Given the description of an element on the screen output the (x, y) to click on. 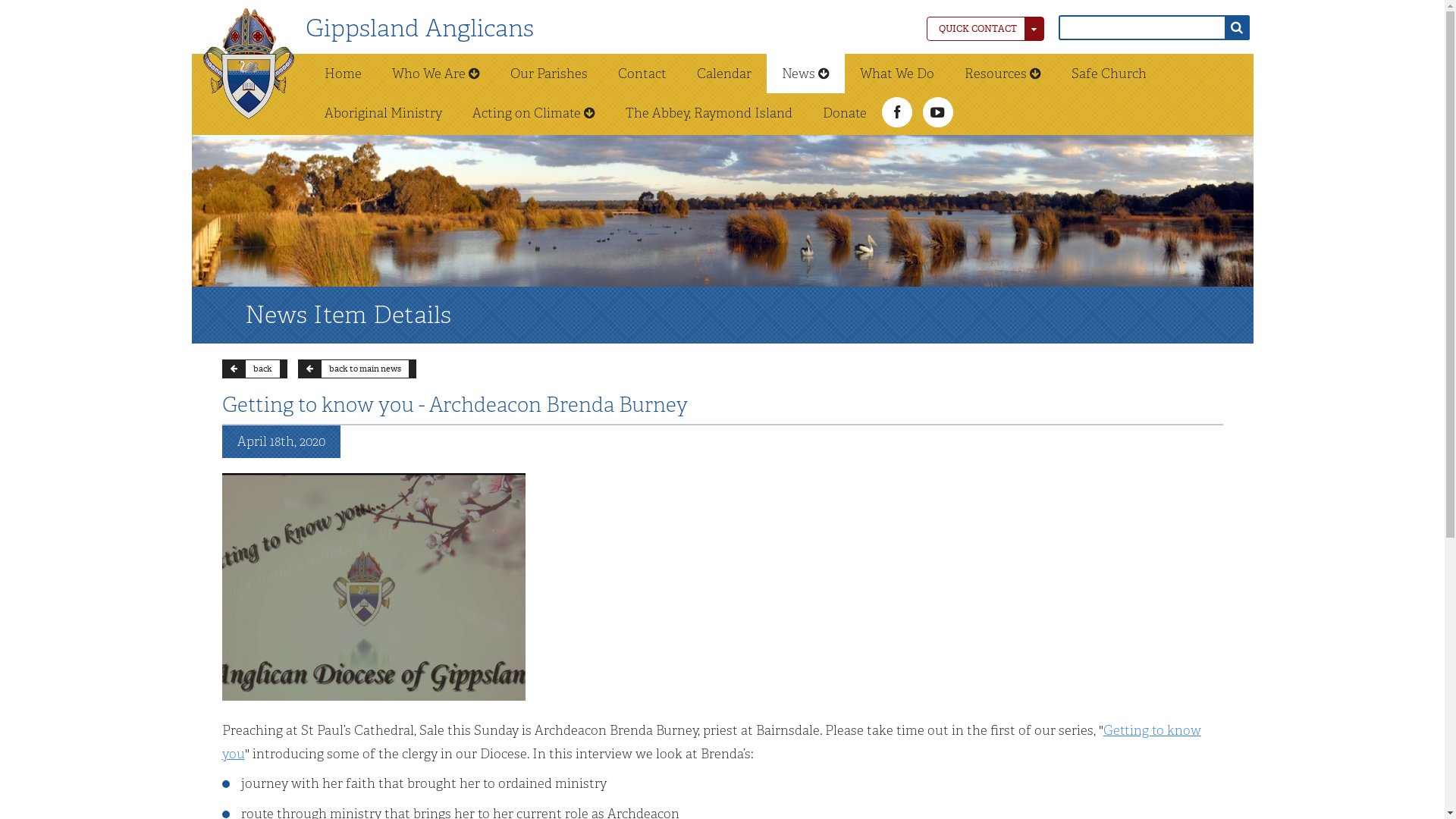
Home Element type: text (342, 73)
Who We Are Element type: text (435, 73)
Getting to know you Element type: text (710, 741)
Donate Element type: text (843, 112)
Safe Church Element type: text (1108, 73)
back Element type: text (253, 369)
News Element type: text (804, 73)
Acting on Climate Element type: text (532, 112)
QUICK CONTACT Element type: text (985, 28)
What We Do Element type: text (896, 73)
back to main news Element type: text (356, 369)
Our Parishes Element type: text (548, 73)
Resources Element type: text (1002, 73)
Contact Element type: text (641, 73)
The Abbey, Raymond Island Element type: text (707, 112)
Gippsland Anglicans Element type: text (418, 28)
Aboriginal Ministry Element type: text (383, 112)
Calendar Element type: text (722, 73)
